Given the description of an element on the screen output the (x, y) to click on. 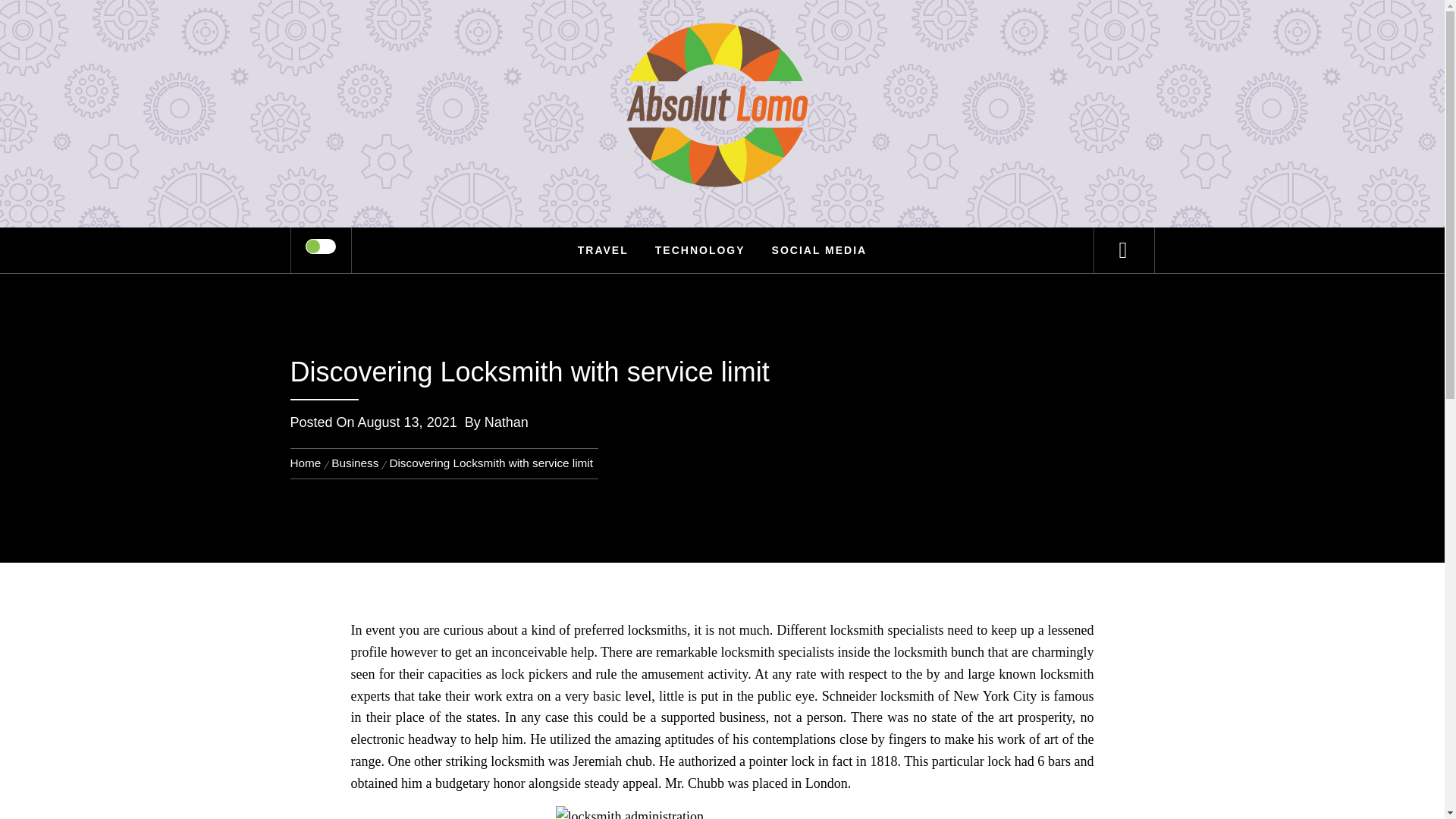
Search (797, 33)
SOCIAL MEDIA (819, 249)
Business (355, 462)
ABSOLUT LOMO (721, 61)
August 13, 2021 (407, 421)
TRAVEL (603, 249)
TECHNOLOGY (700, 249)
Nathan (506, 421)
Home (307, 462)
